Given the description of an element on the screen output the (x, y) to click on. 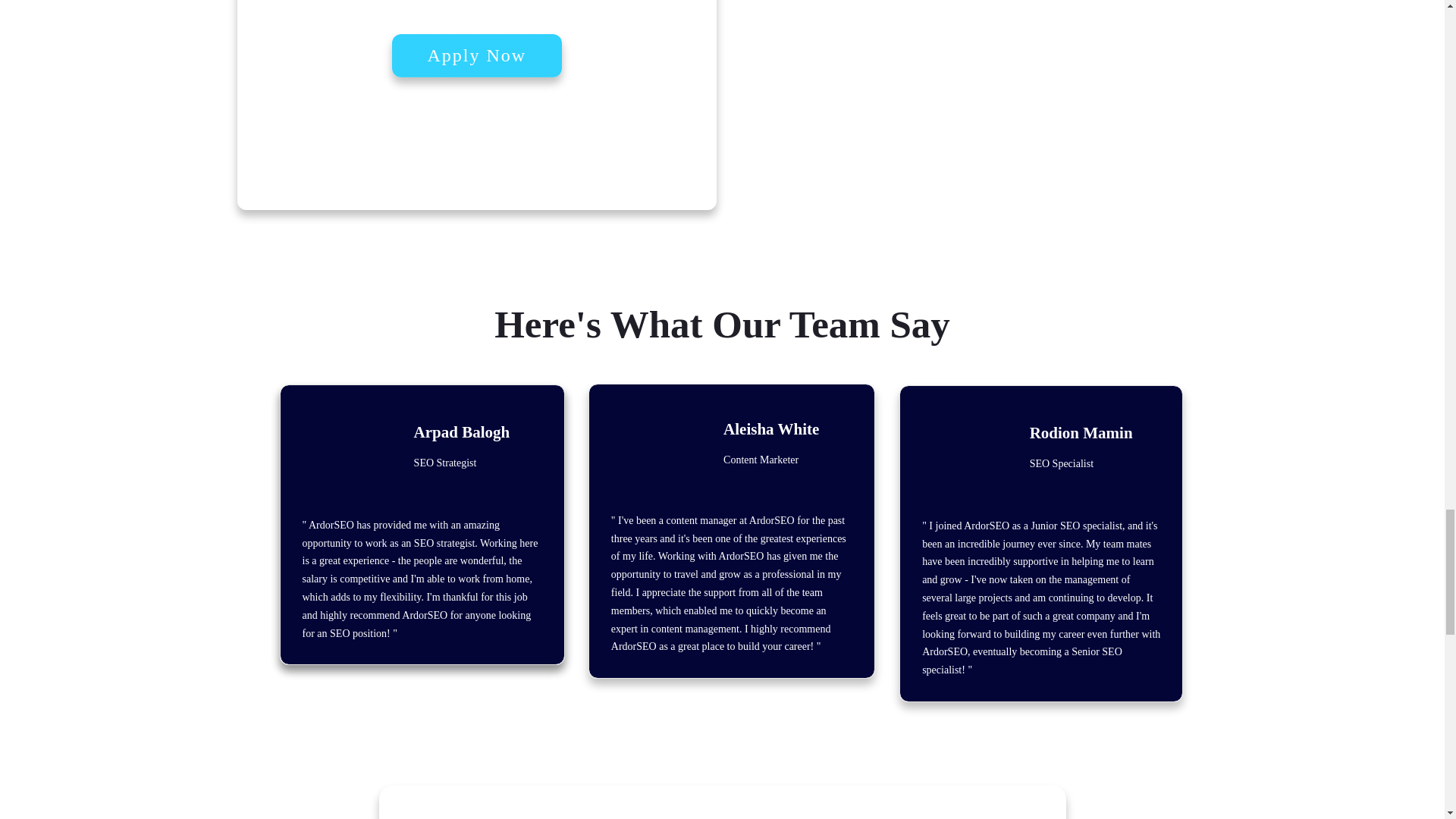
aleisha-min (649, 451)
arpad-pretty-face (339, 454)
international-team-earth (1011, 46)
rodion-mamin-portrait223 (959, 454)
Apply Now (476, 55)
